Given the description of an element on the screen output the (x, y) to click on. 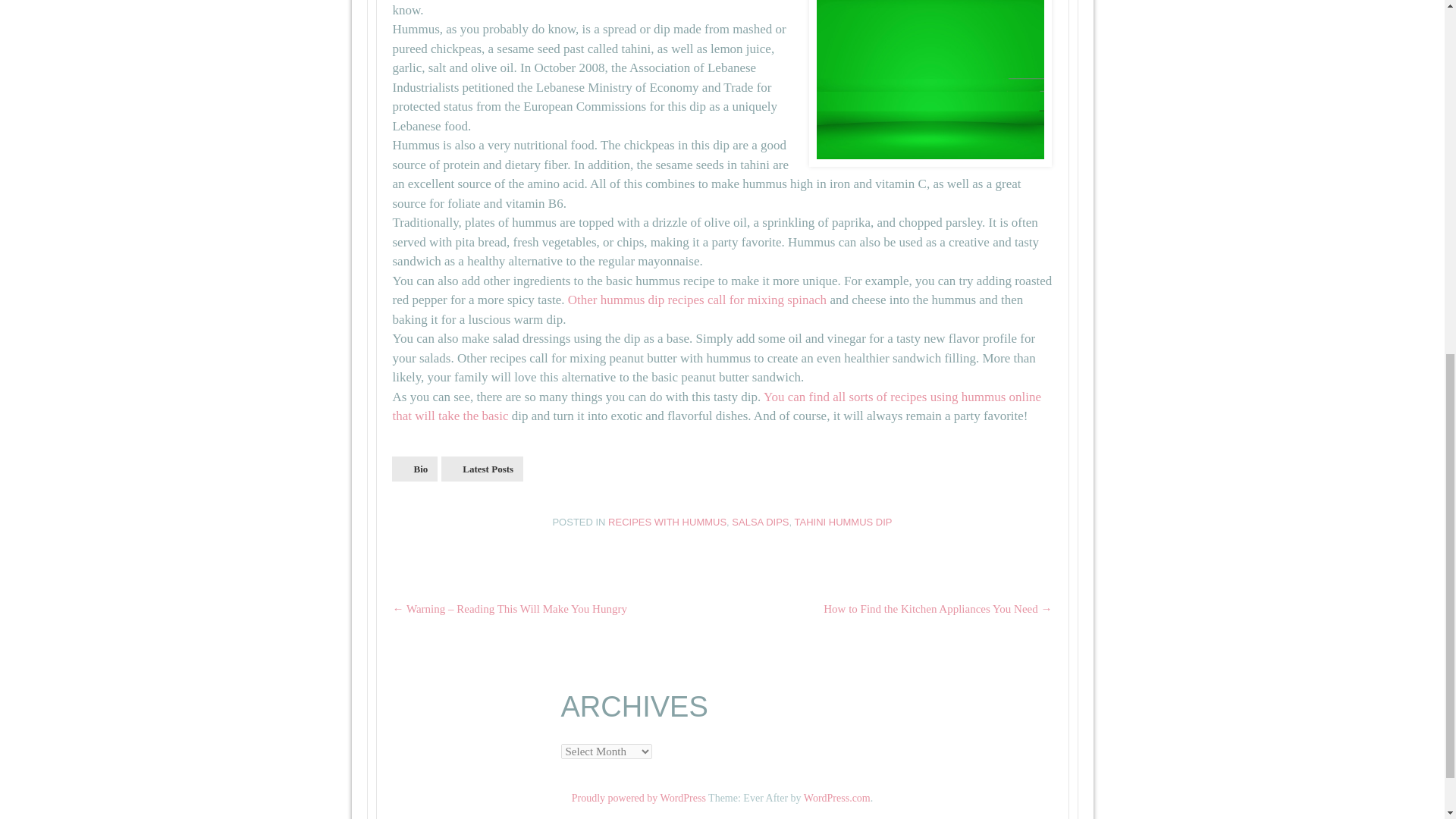
WordPress.com (836, 797)
TAHINI HUMMUS DIP (843, 521)
RECIPES WITH HUMMUS (667, 521)
Bio (414, 468)
Proudly powered by WordPress (639, 797)
A Semantic Personal Publishing Platform (639, 797)
more like this (716, 406)
Latest Posts (481, 468)
Spicy hummus dip (697, 299)
Other hummus dip recipes call for mixing spinach (697, 299)
SALSA DIPS (760, 521)
